Given the description of an element on the screen output the (x, y) to click on. 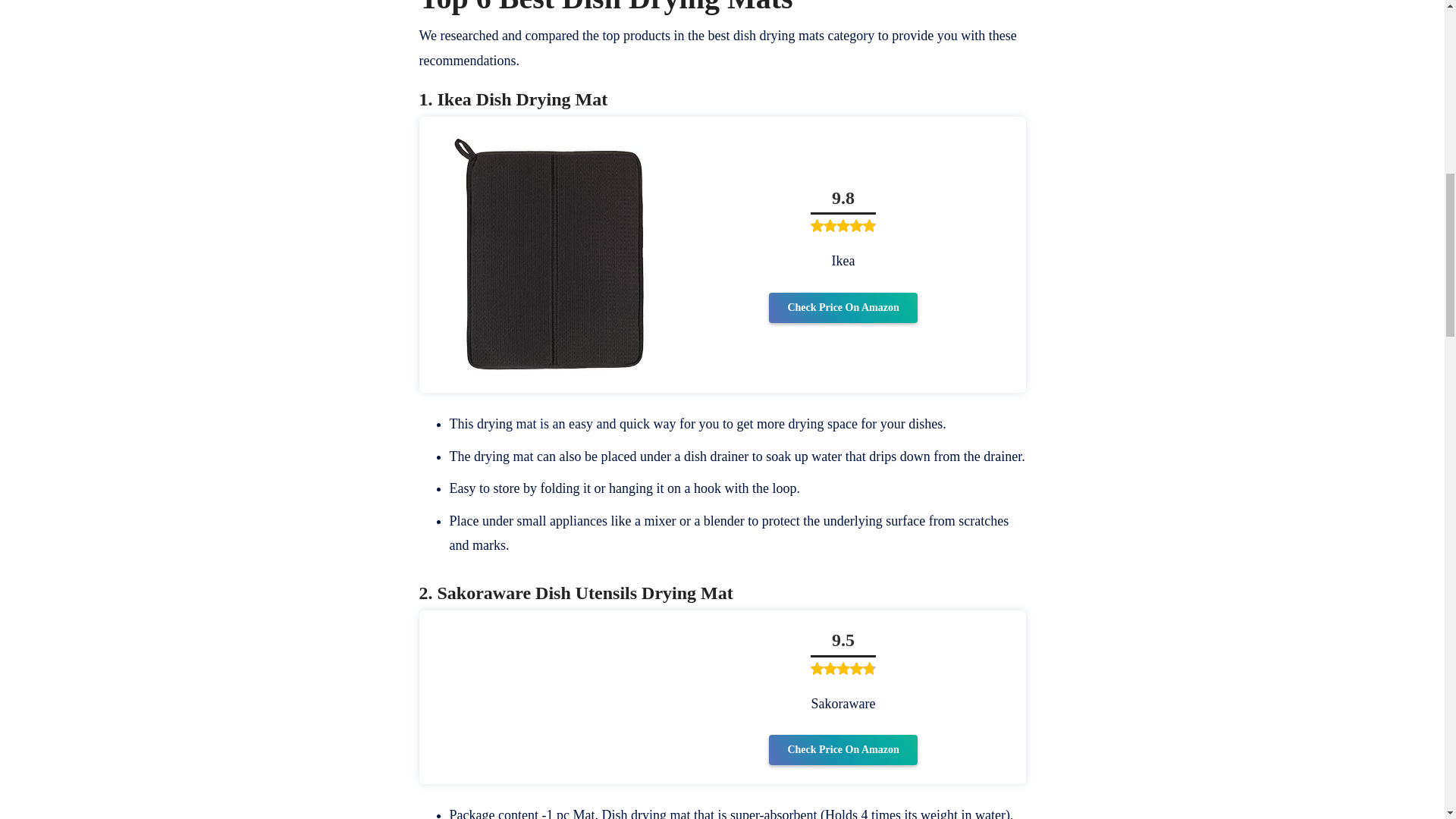
Check Price On Amazon (842, 749)
Check Price On Amazon (842, 307)
